Given the description of an element on the screen output the (x, y) to click on. 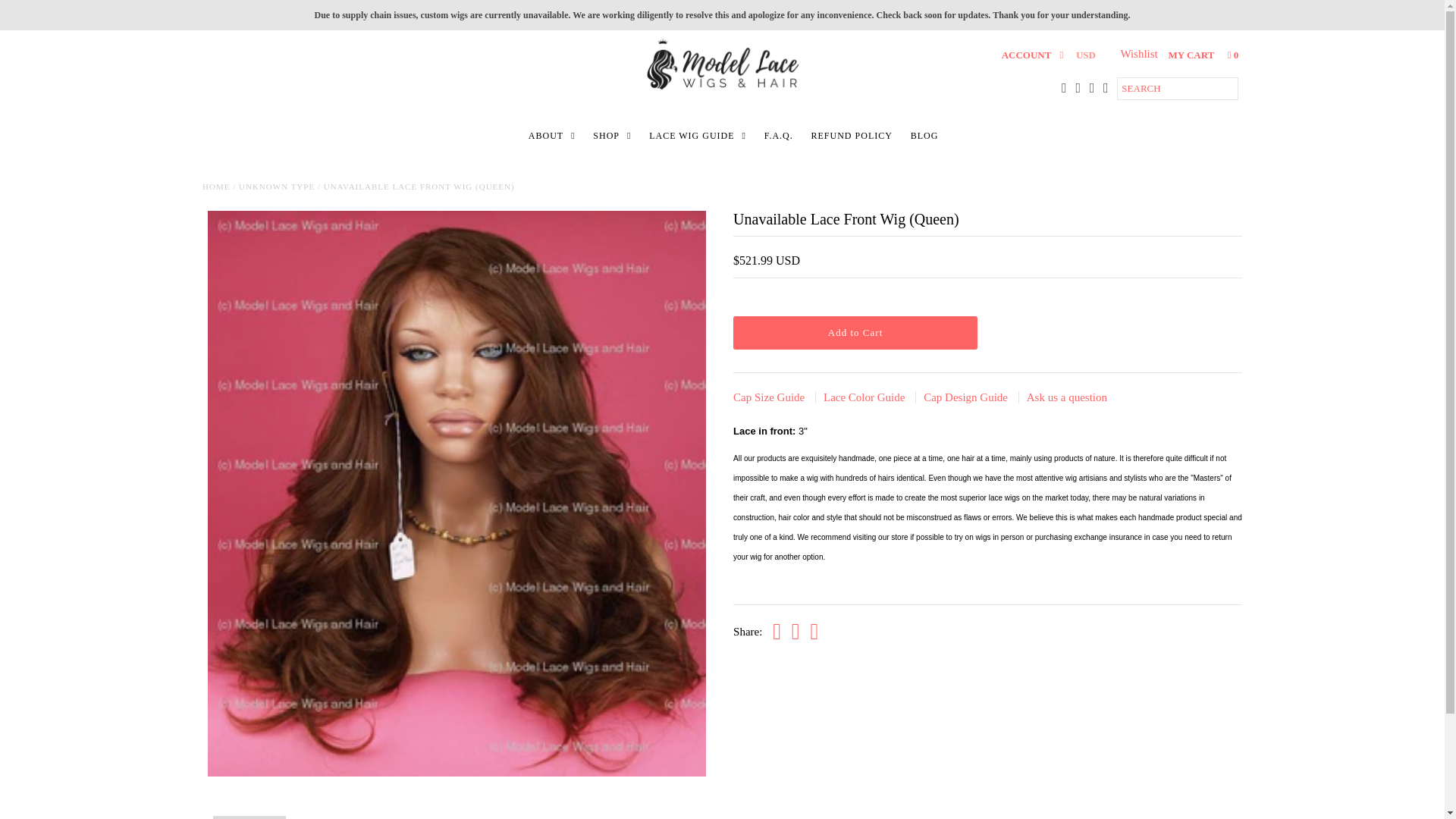
ACCOUNT (1032, 55)
REFUND POLICY (851, 135)
HOME (216, 185)
ABOUT (552, 135)
MY CART   0 (1204, 55)
LACE WIG GUIDE (698, 135)
Pin This Product (814, 632)
Home (216, 185)
Share on Twitter (795, 632)
F.A.Q. (778, 135)
Add to Cart (854, 332)
BLOG (924, 135)
Wishlist (1139, 53)
SHOP (612, 135)
